Given the description of an element on the screen output the (x, y) to click on. 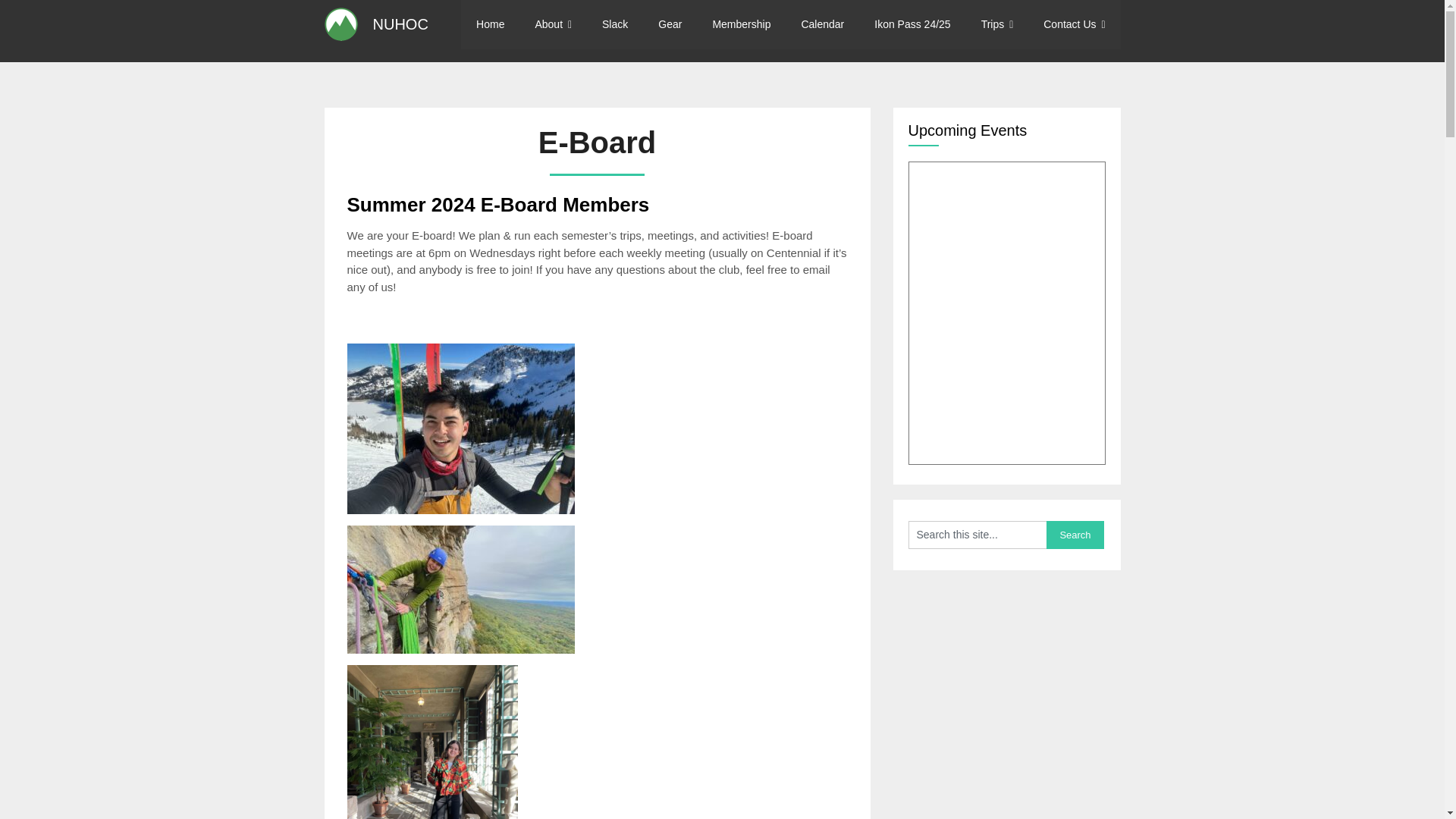
About (552, 24)
Membership (741, 24)
Trips (997, 24)
NUHOC (401, 24)
Slack (614, 24)
Calendar (822, 24)
Contact Us (1073, 24)
Home (490, 24)
Search (1075, 534)
